Given the description of an element on the screen output the (x, y) to click on. 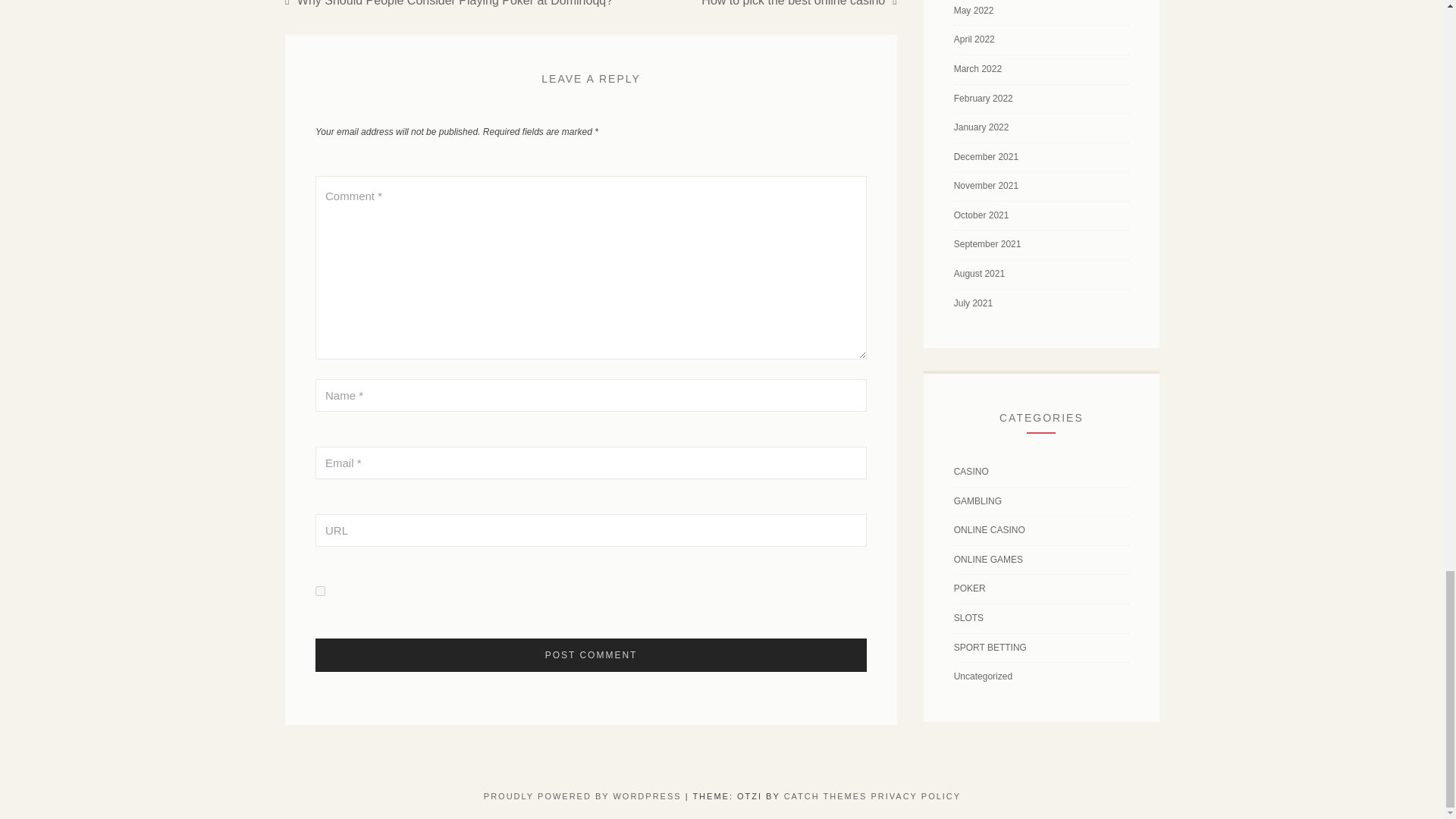
Post Comment (590, 654)
yes (319, 591)
Post Comment (590, 654)
How to pick the best online casino (798, 3)
Why Should People Consider Playing Poker at Dominoqq? (448, 3)
